Given the description of an element on the screen output the (x, y) to click on. 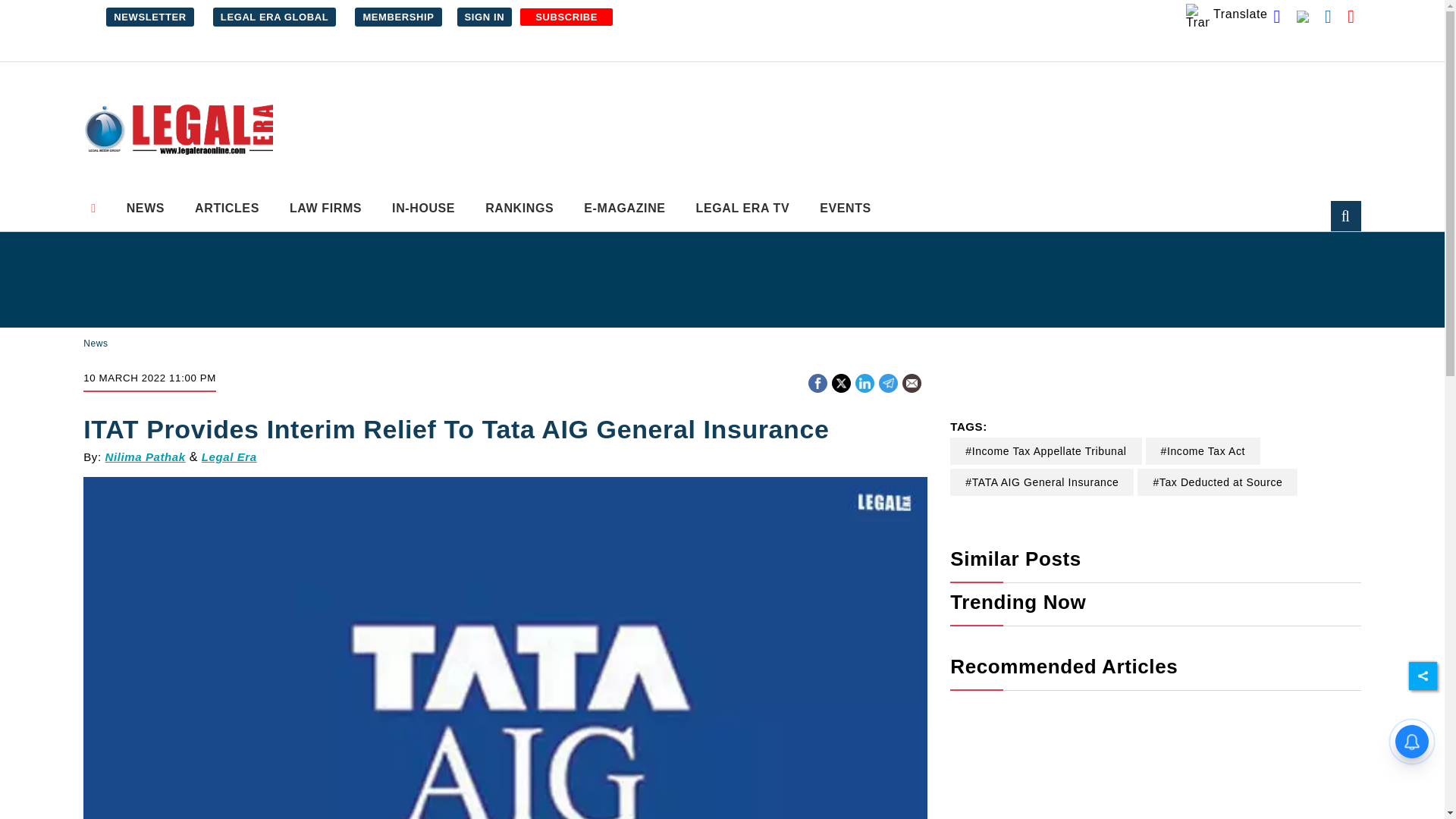
Email (911, 383)
SIGN IN (484, 16)
LinkedIn (865, 381)
Legal Era (177, 130)
Translate (1227, 15)
Twitter (840, 381)
linkedin (864, 383)
MEMBERSHIP (398, 16)
Facebook (817, 381)
LEGAL ERA GLOBAL (274, 16)
facebook (818, 383)
Share by Email (911, 384)
telegram (887, 383)
twitter (841, 383)
